Given the description of an element on the screen output the (x, y) to click on. 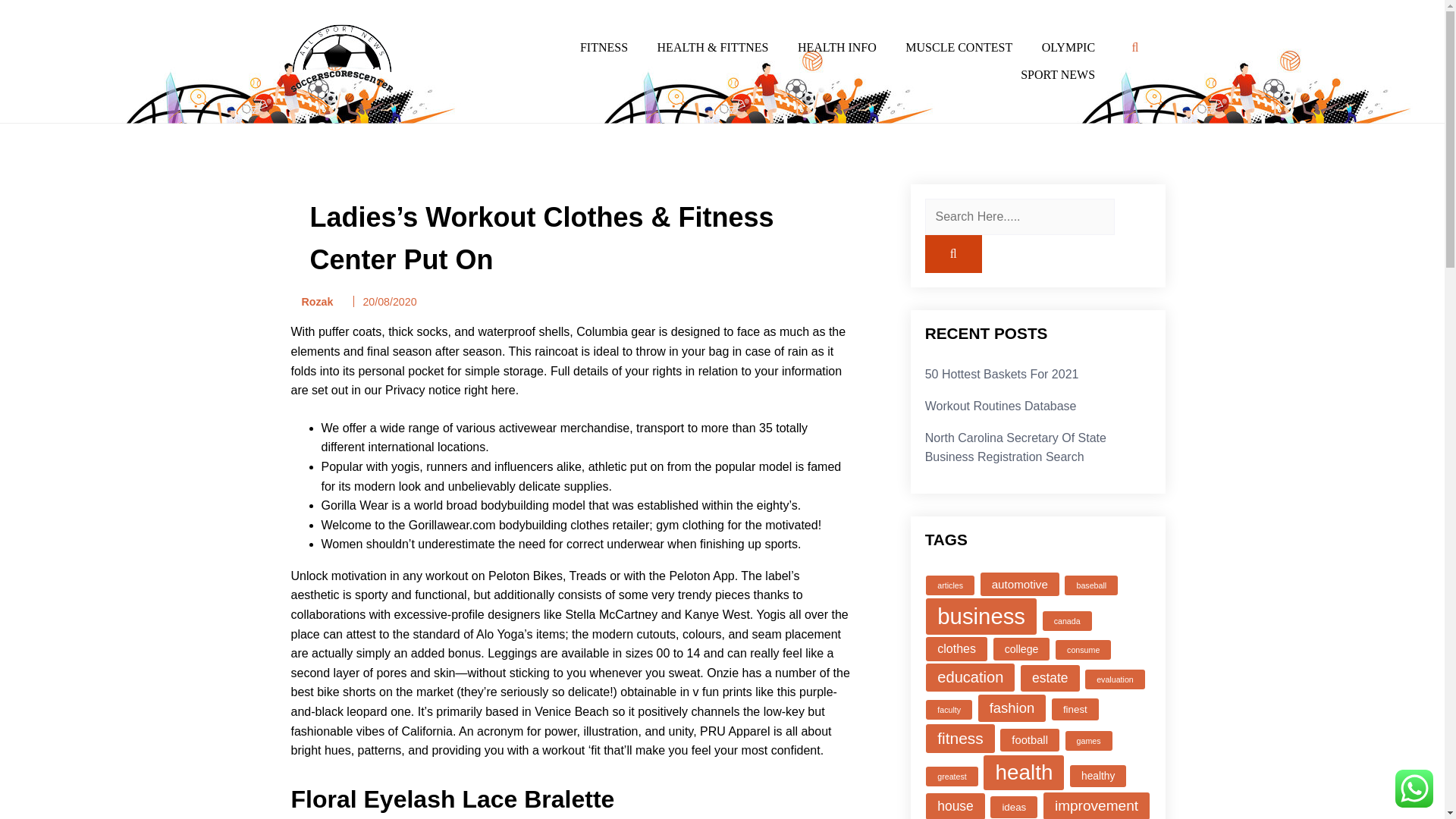
Workout Routines Database (1000, 405)
baseball (1091, 585)
HEALTH INFO (836, 47)
automotive (1019, 584)
OLYMPIC (1068, 47)
business (981, 616)
MUSCLE CONTEST (958, 47)
SPORT NEWS (1057, 74)
Rozak (312, 302)
SSC (292, 116)
